Given the description of an element on the screen output the (x, y) to click on. 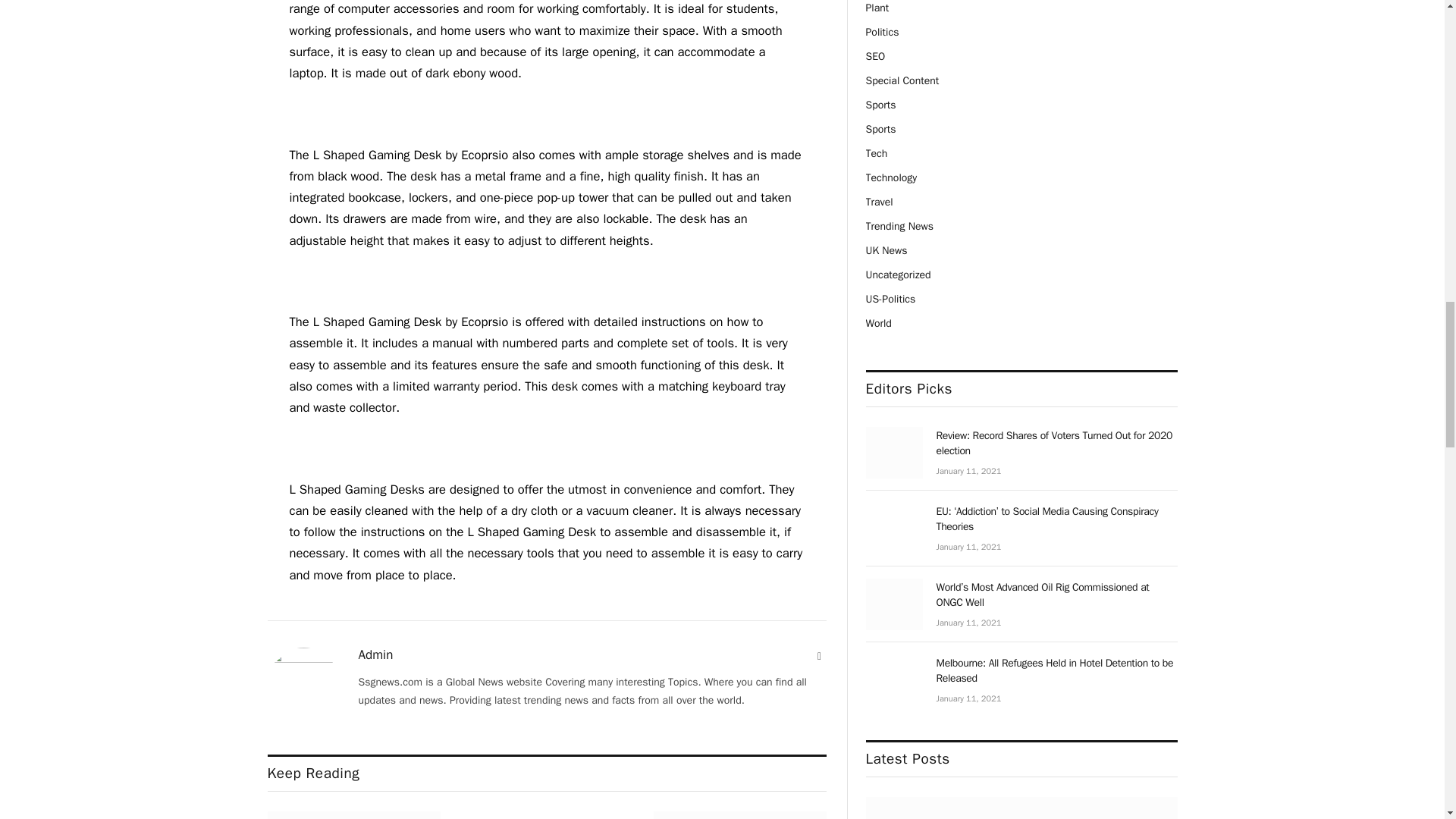
Website (818, 656)
Posts by Admin (375, 654)
